Given the description of an element on the screen output the (x, y) to click on. 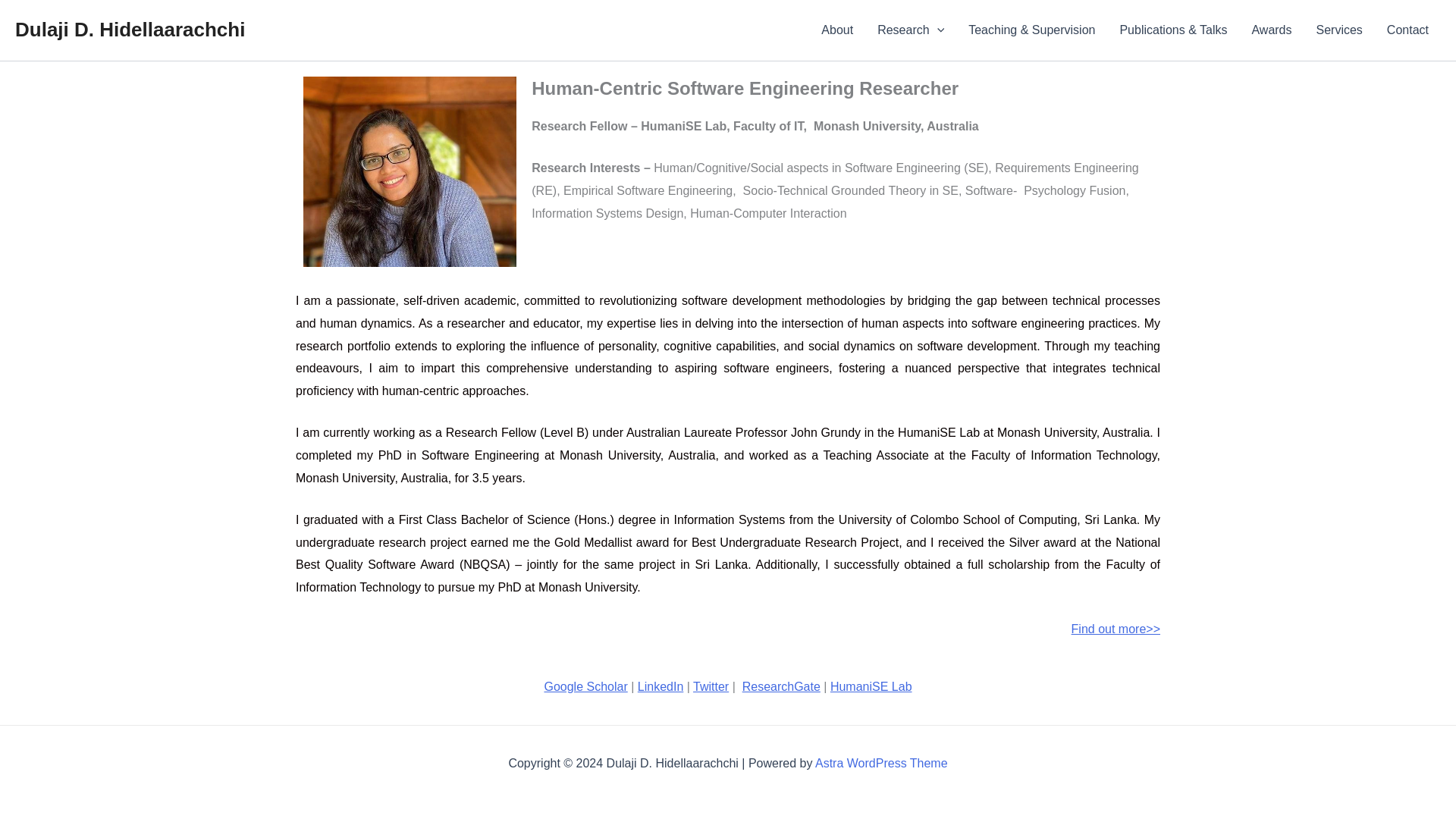
Google Scholar (585, 686)
ResearchGate (781, 686)
Astra WordPress Theme (881, 762)
HumaniSE Lab (870, 686)
About (836, 30)
Awards (1271, 30)
Contact (1407, 30)
Twitter (711, 686)
Services (1339, 30)
Dulaji D. Hidellaarachchi (129, 29)
